Given the description of an element on the screen output the (x, y) to click on. 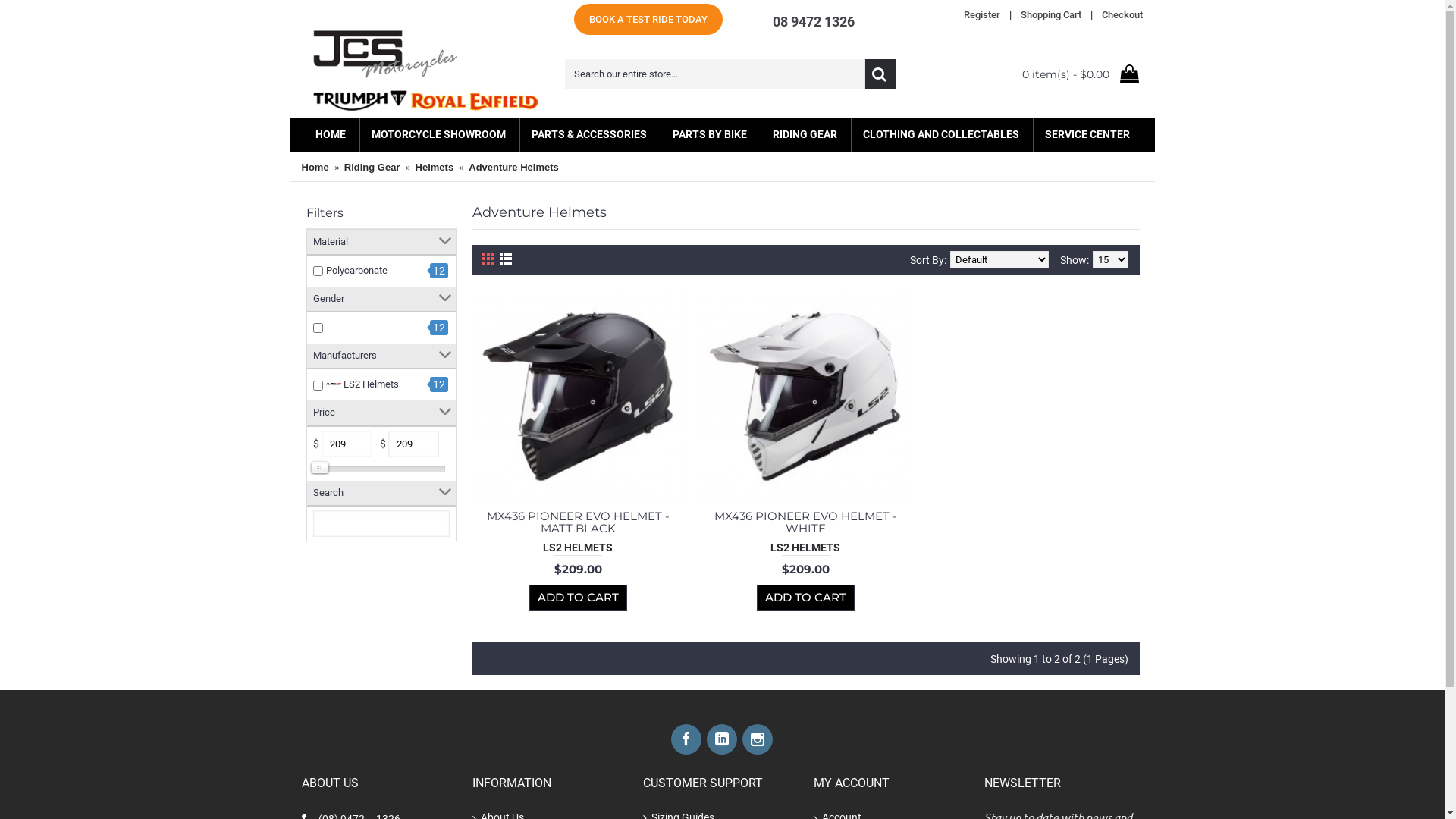
08 9472 1326 Element type: text (812, 21)
Adventure Helmets Element type: text (513, 167)
BOOK A TEST RIDE TODAY Element type: text (647, 18)
0 item(s) - $0.00 Element type: text (1040, 74)
ADD TO CART Element type: text (805, 597)
MX436 PIONEER EVO HELMET - WHITE Element type: hover (805, 396)
JCS Motorcycles Element type: hover (425, 73)
CLOTHING AND COLLECTABLES Element type: text (939, 134)
MX436 PIONEER EVO HELMET - MATT BLACK Element type: text (577, 521)
Home Element type: text (315, 167)
Checkout Element type: text (1121, 15)
Register Element type: text (981, 15)
MX436 PIONEER EVO HELMET - MATT BLACK Element type: hover (577, 396)
SERVICE CENTER Element type: text (1086, 134)
Shopping Cart Element type: text (1050, 15)
Riding Gear Element type: text (372, 167)
MOTORCYCLE SHOWROOM Element type: text (437, 134)
HOME Element type: text (329, 134)
PARTS & ACCESSORIES Element type: text (589, 134)
ADD TO CART Element type: text (578, 597)
PARTS BY BIKE Element type: text (709, 134)
MX436 PIONEER EVO HELMET - WHITE Element type: text (805, 521)
RIDING GEAR Element type: text (804, 134)
Helmets Element type: text (434, 167)
